Given the description of an element on the screen output the (x, y) to click on. 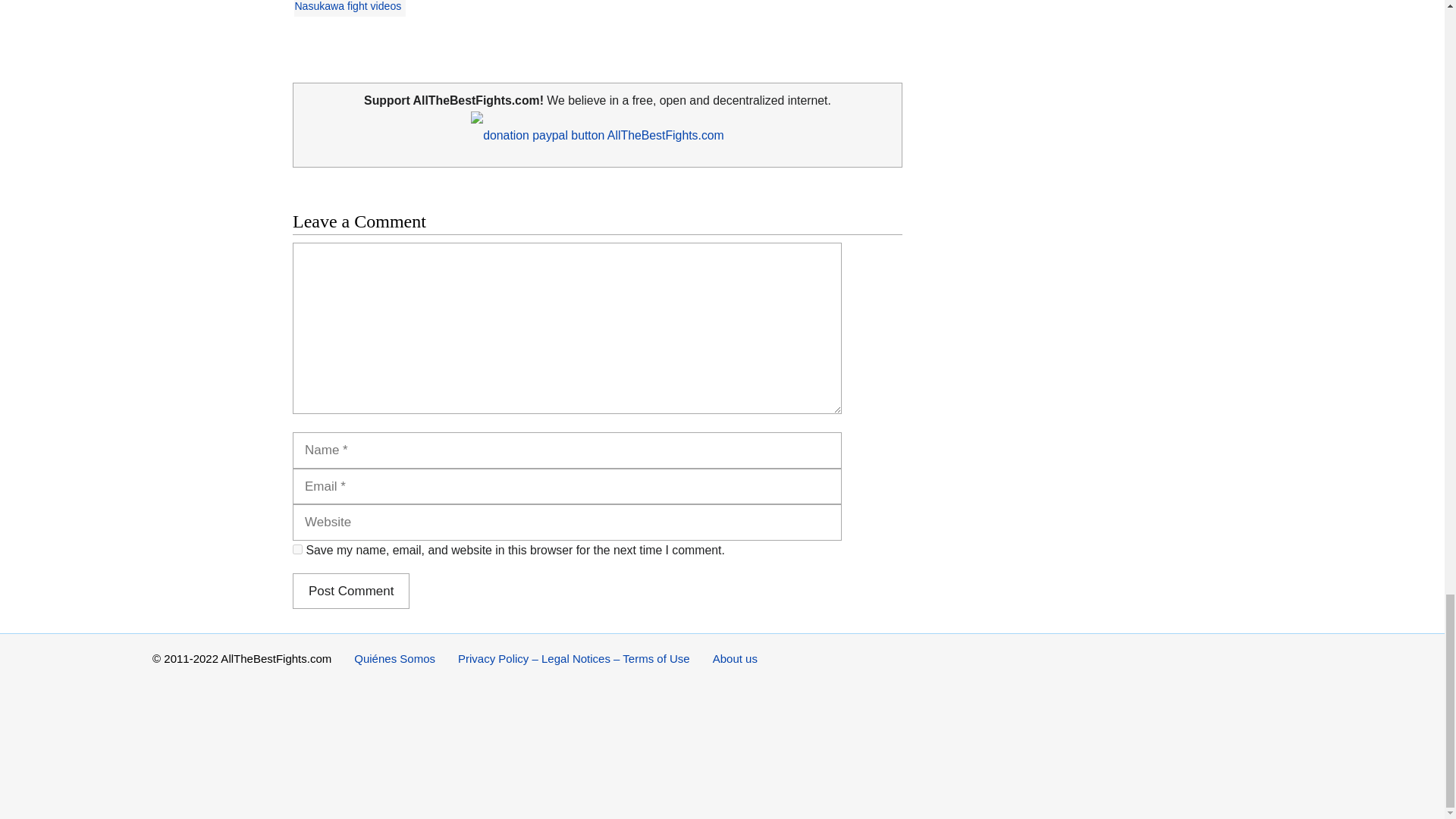
Post Comment (350, 591)
yes (297, 549)
Post Comment (350, 591)
Tenshin Nasukawa fight videos (587, 8)
